Given the description of an element on the screen output the (x, y) to click on. 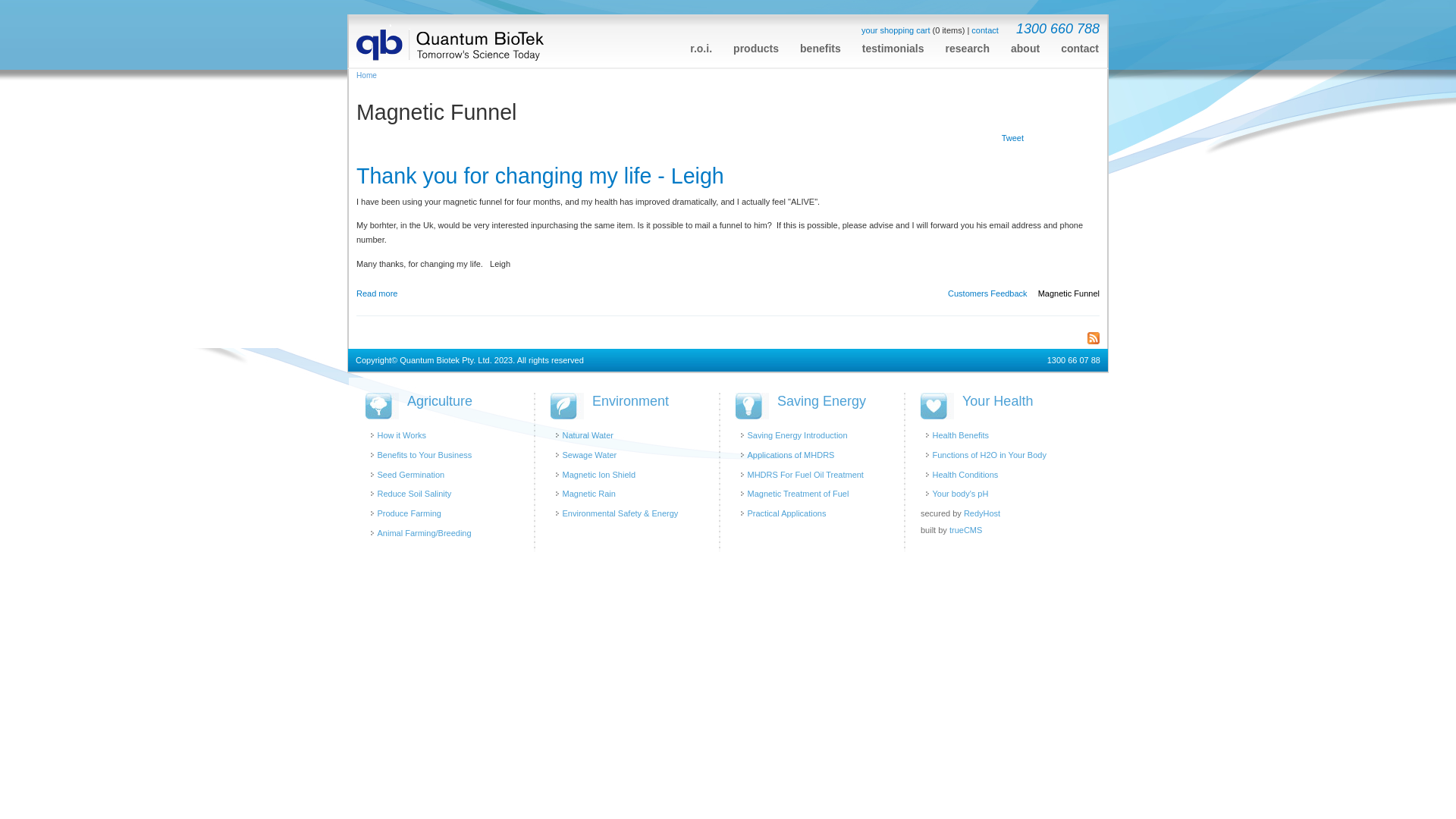
Saving Energy Introduction Element type: text (797, 434)
Natural Water Element type: text (587, 434)
contact Element type: text (1079, 44)
about Element type: text (1024, 44)
benefits Element type: text (820, 44)
Reduce Soil Salinity Element type: text (414, 493)
Tweet Element type: text (1012, 138)
Health Conditions Element type: text (965, 474)
Magnetic Ion Shield Element type: text (599, 474)
MHDRS For Fuel Oil Treatment Element type: text (805, 474)
research Element type: text (967, 44)
Environment Element type: text (630, 400)
Your Health Element type: text (997, 400)
Produce Farming Element type: text (409, 512)
testimonials Element type: text (893, 44)
How it Works Element type: text (401, 434)
Magnetic Treatment of Fuel Element type: text (798, 493)
Benefits to Your Business Element type: text (424, 454)
Environmental Safety & Energy Element type: text (620, 512)
Functions of H2O in Your Body Element type: text (989, 454)
Magnetic Funnel Element type: text (1068, 293)
Applications of MHDRS Element type: text (790, 454)
Seed Germination Element type: text (411, 474)
Health Benefits Element type: text (960, 434)
r.o.i. Element type: text (701, 44)
Your body's pH Element type: text (960, 493)
Home Element type: text (366, 75)
Practical Applications Element type: text (786, 512)
your shopping cart Element type: text (895, 29)
Thank you for changing my life - Leigh Element type: text (540, 175)
Magnetic Rain Element type: text (588, 493)
Saving Energy Element type: text (821, 400)
Read more Element type: text (376, 293)
Animal Farming/Breeding Element type: text (424, 532)
RedyHost Element type: text (981, 512)
Customers Feedback Element type: text (987, 293)
trueCMS Element type: text (965, 529)
Agriculture Element type: text (439, 400)
contact Element type: text (984, 29)
Sewage Water Element type: text (589, 454)
products Element type: text (755, 44)
RSS - Magnetic Funnel Element type: hover (1093, 338)
